Given the description of an element on the screen output the (x, y) to click on. 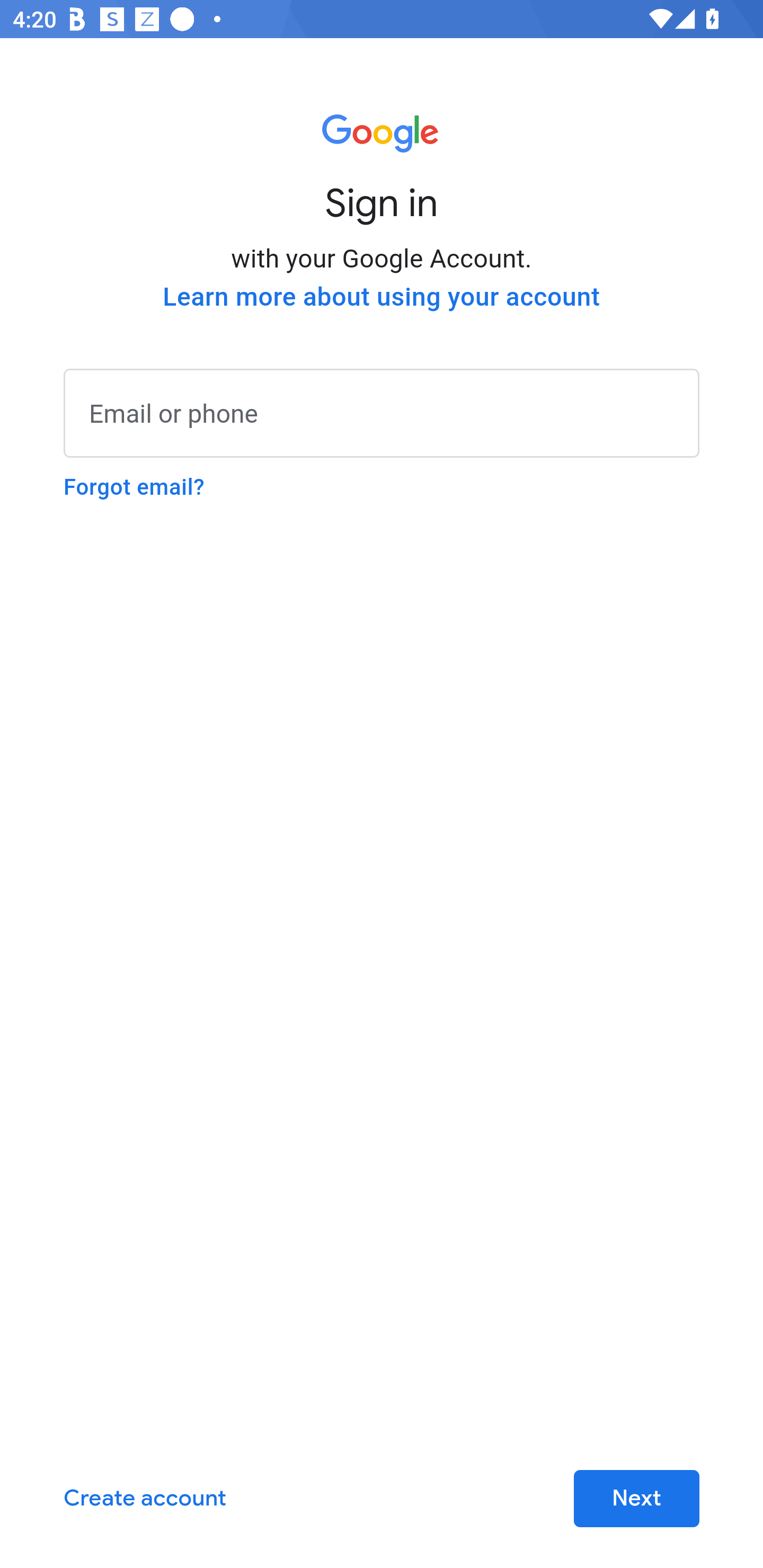
Learn more about using your account (381, 296)
Forgot email? (133, 486)
Create account (145, 1498)
Next (635, 1498)
